Given the description of an element on the screen output the (x, y) to click on. 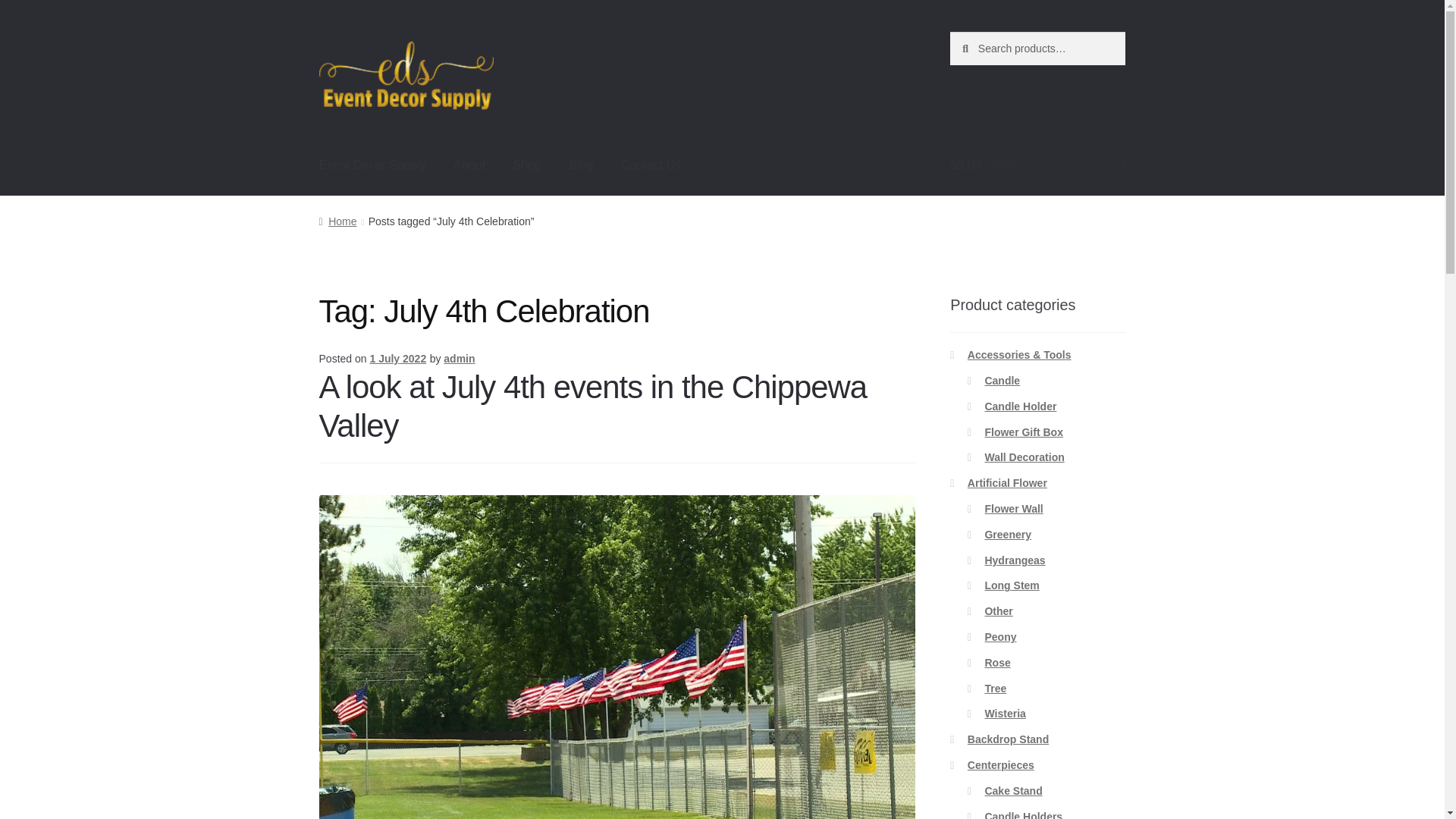
About (469, 165)
Contact Us (650, 165)
admin (459, 358)
A look at July 4th events in the Chippewa Valley (592, 406)
Event Decor Supply (372, 165)
1 July 2022 (397, 358)
View your shopping cart (1037, 165)
Home (337, 221)
